Given the description of an element on the screen output the (x, y) to click on. 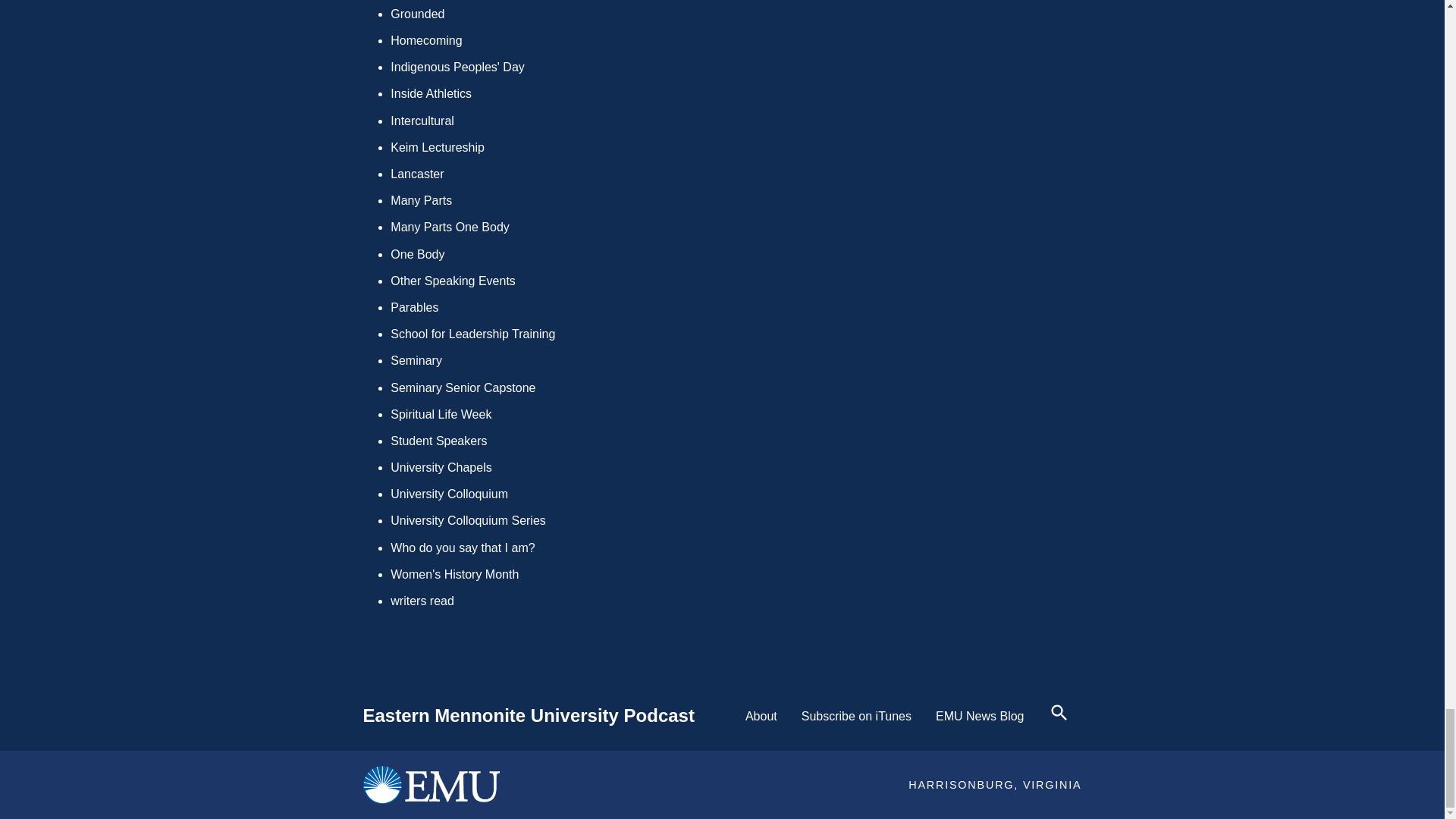
Eastern Mennonite University (430, 784)
